Given the description of an element on the screen output the (x, y) to click on. 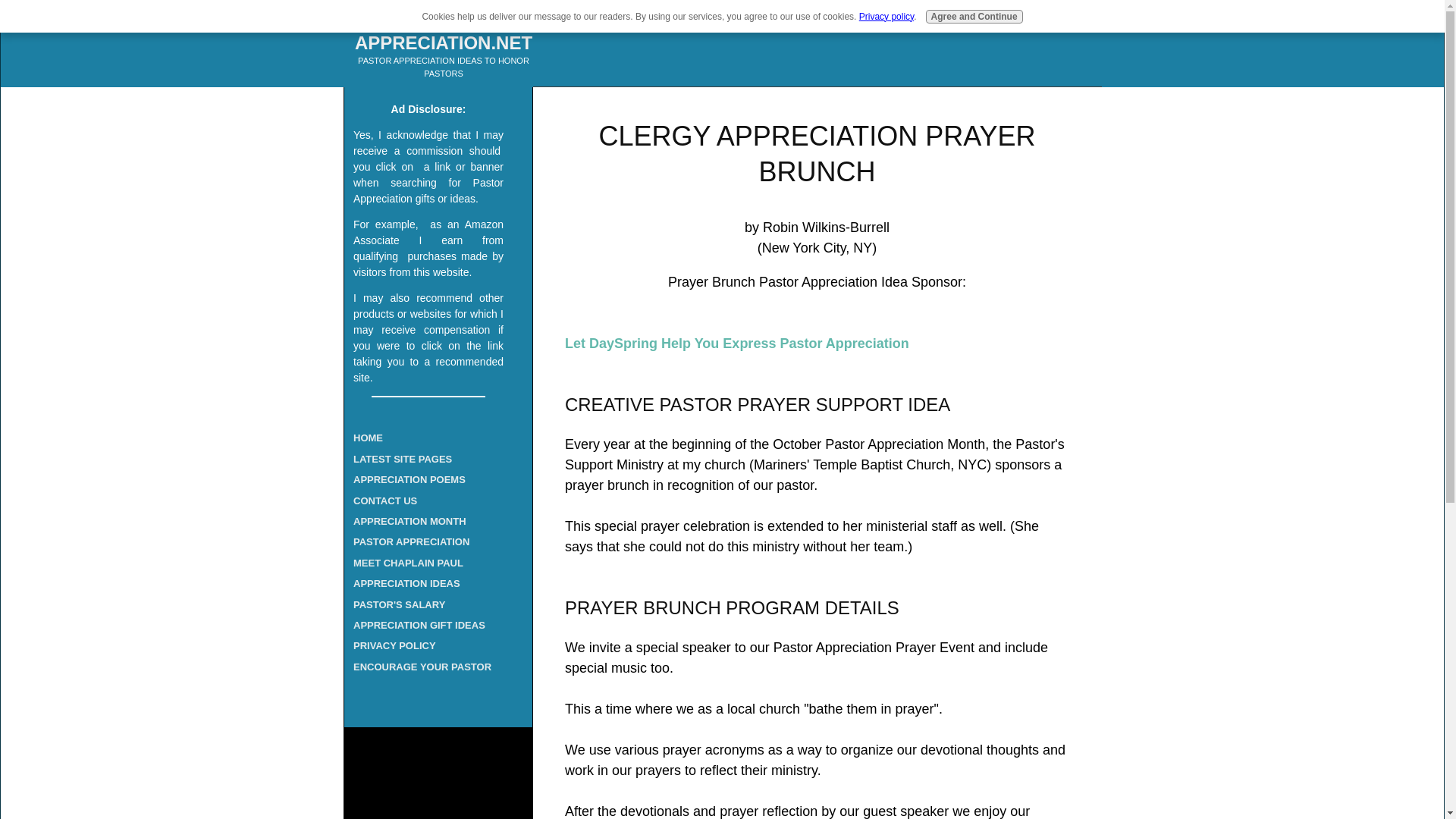
Privacy policy (886, 16)
PRIVACY POLICY (428, 645)
LATEST SITE PAGES (428, 458)
CONTACT US (428, 500)
APPRECIATION IDEAS (428, 583)
Agree and Continue (974, 16)
APPRECIATION GIFT IDEAS (428, 625)
Let DaySpring Help You Express Pastor Appreciation (736, 343)
HOME (428, 437)
PASTOR'S SALARY (428, 604)
